Given the description of an element on the screen output the (x, y) to click on. 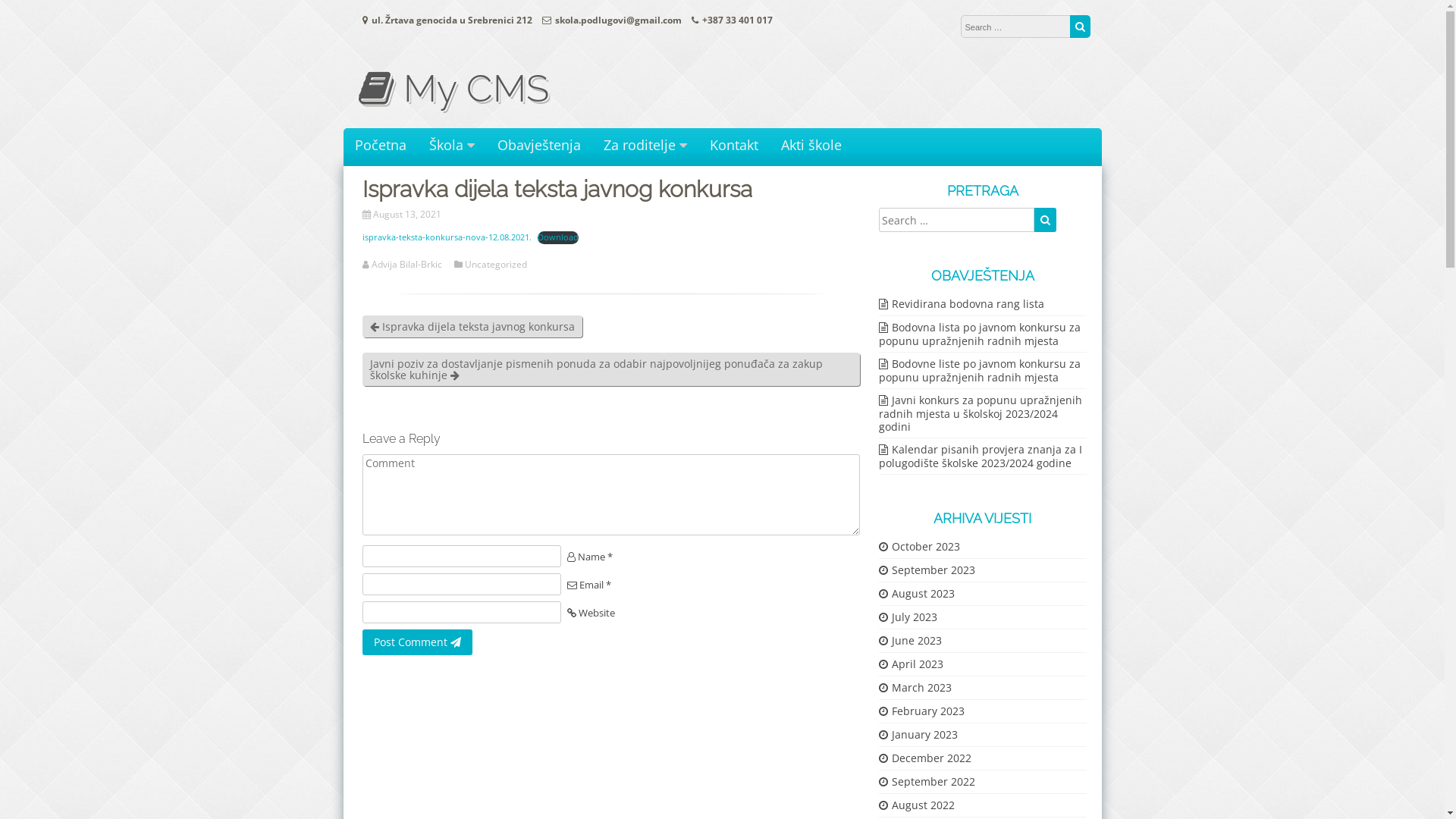
February 2023 Element type: text (920, 710)
December 2022 Element type: text (924, 757)
October 2023 Element type: text (918, 546)
March 2023 Element type: text (914, 687)
Revidirana bodovna rang lista Element type: text (960, 303)
Za roditelje Element type: text (645, 145)
My CMS Element type: text (452, 87)
June 2023 Element type: text (909, 640)
Ispravka dijela teksta javnog konkursa Element type: text (472, 326)
Download Element type: text (557, 237)
August 13, 2021 Element type: text (408, 213)
August 2023 Element type: text (915, 593)
Advija Bilal-Brkic Element type: text (408, 264)
September 2022 Element type: text (926, 781)
August 2022 Element type: text (915, 804)
Kontakt Element type: text (733, 145)
September 2023 Element type: text (926, 569)
January 2023 Element type: text (917, 734)
Search Element type: text (1079, 26)
Post Comment Element type: text (417, 642)
April 2023 Element type: text (910, 663)
Search Element type: text (1045, 219)
Uncategorized Element type: text (496, 264)
ispravka-teksta-konkursa-nova-12.08.2021. Element type: text (446, 236)
July 2023 Element type: text (907, 616)
